Given the description of an element on the screen output the (x, y) to click on. 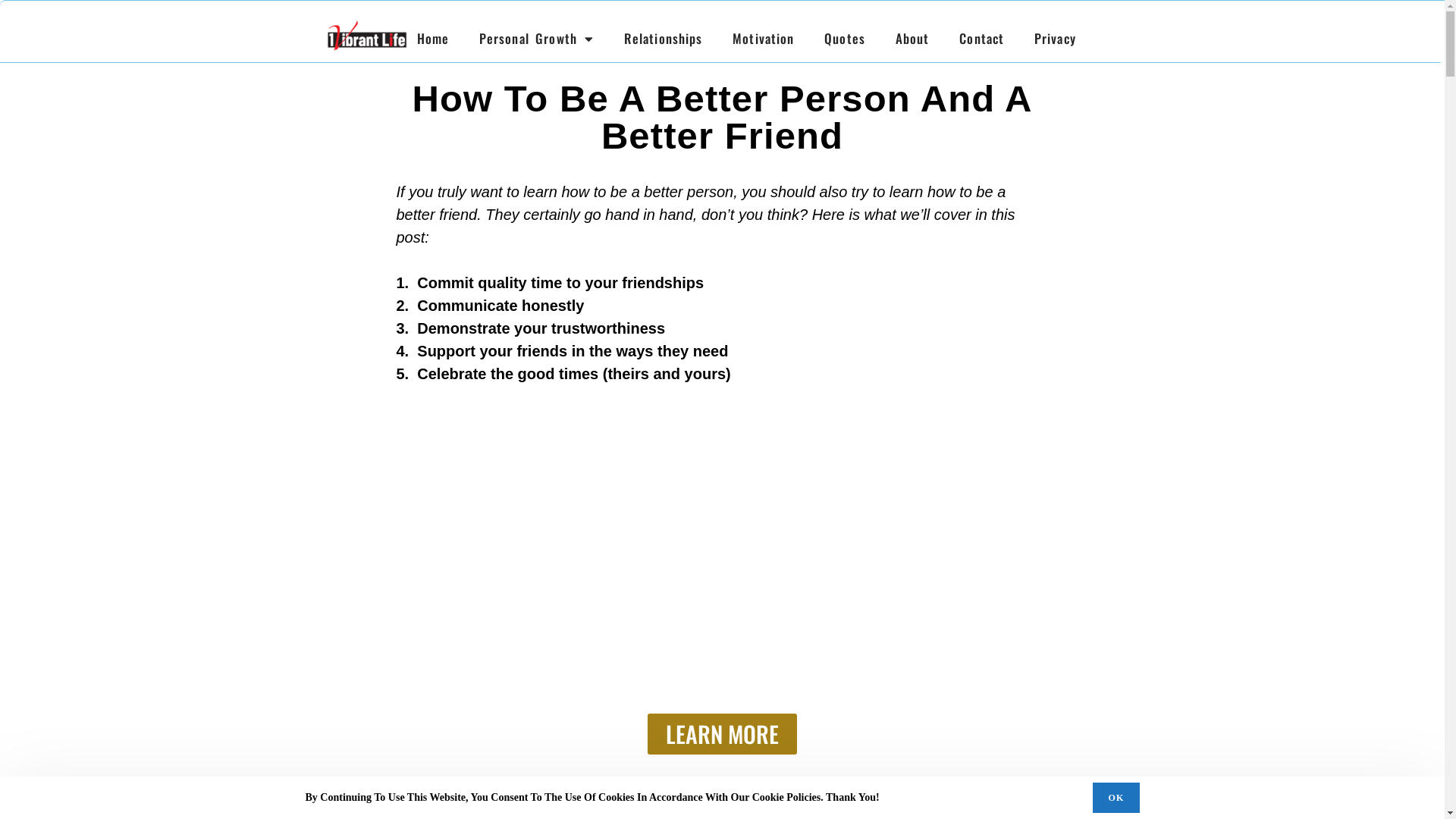
LEARN MORE Element type: text (722, 732)
Personal Growth Element type: text (536, 38)
OK Element type: text (1115, 797)
Privacy Element type: text (1055, 38)
Contact Element type: text (981, 38)
About Element type: text (912, 38)
Home Element type: text (432, 38)
Quotes Element type: text (844, 38)
Relationships Element type: text (662, 38)
Motivation Element type: text (763, 38)
